Given the description of an element on the screen output the (x, y) to click on. 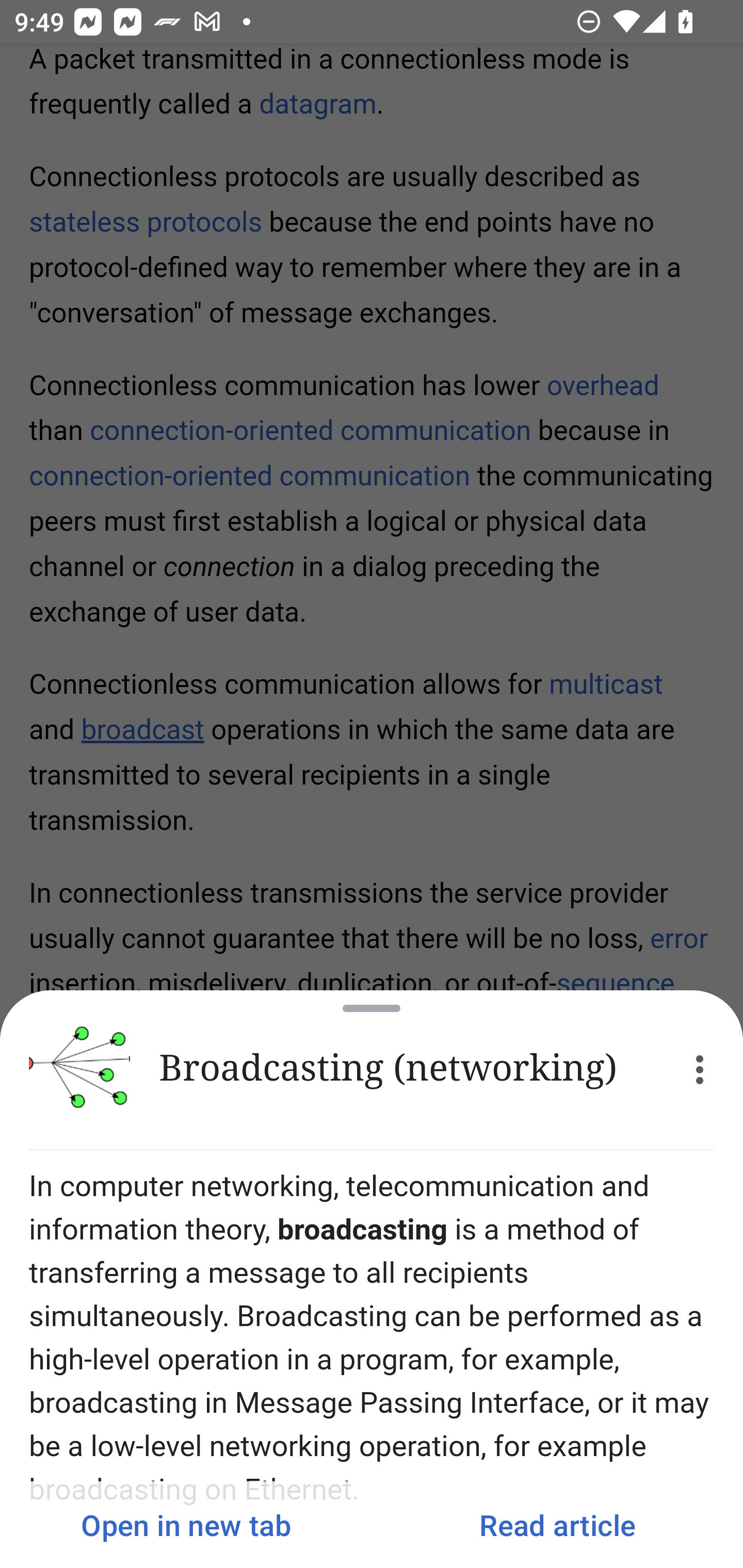
Broadcasting (networking) More options (371, 1069)
More options (699, 1070)
Open in new tab (185, 1524)
Read article (557, 1524)
